Given the description of an element on the screen output the (x, y) to click on. 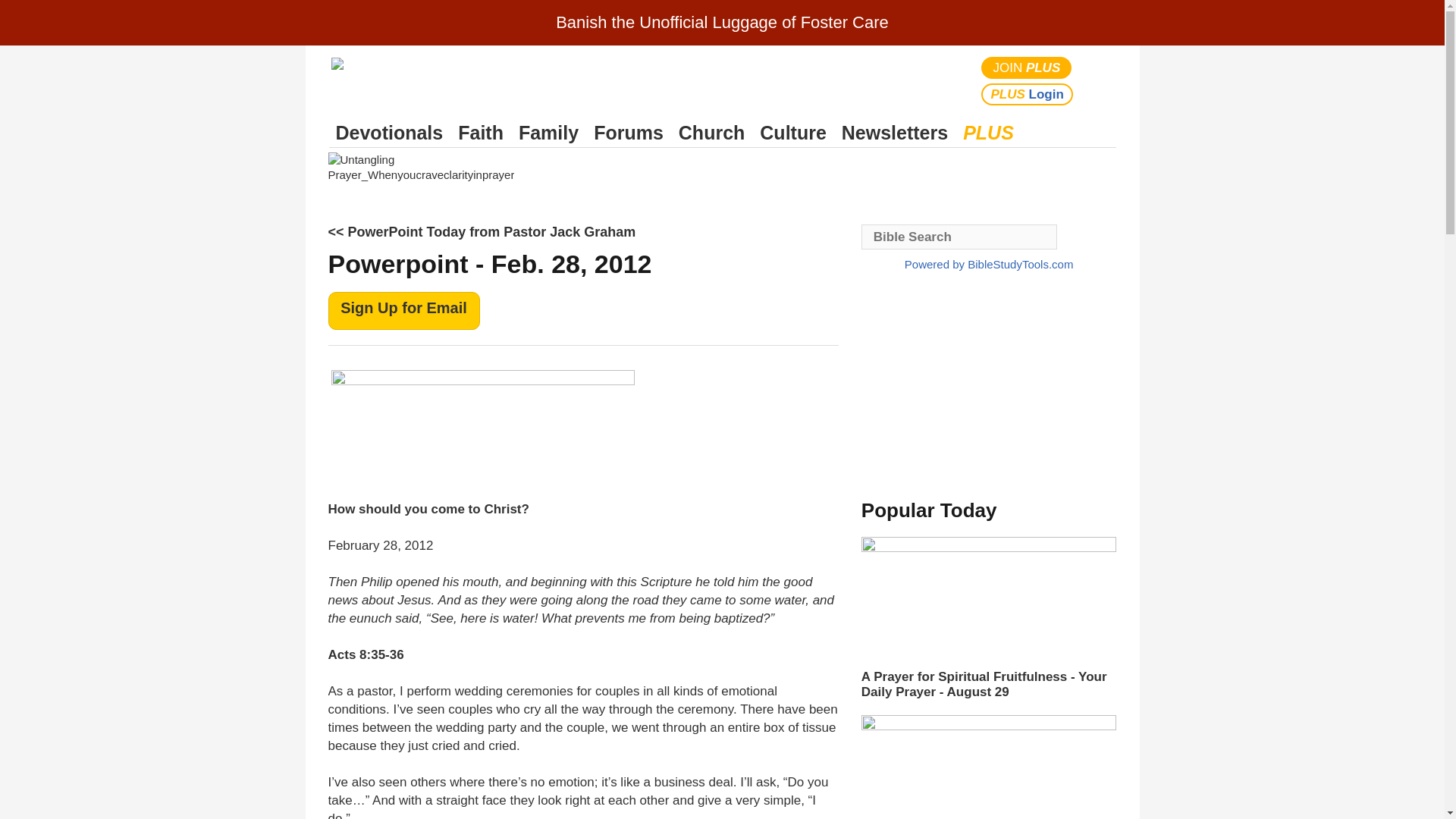
PLUS Login (1026, 94)
Plus Login (1026, 94)
Search (1101, 80)
Devotionals (389, 132)
Join Plus (1026, 67)
Faith (481, 132)
JOIN PLUS (1026, 67)
